Given the description of an element on the screen output the (x, y) to click on. 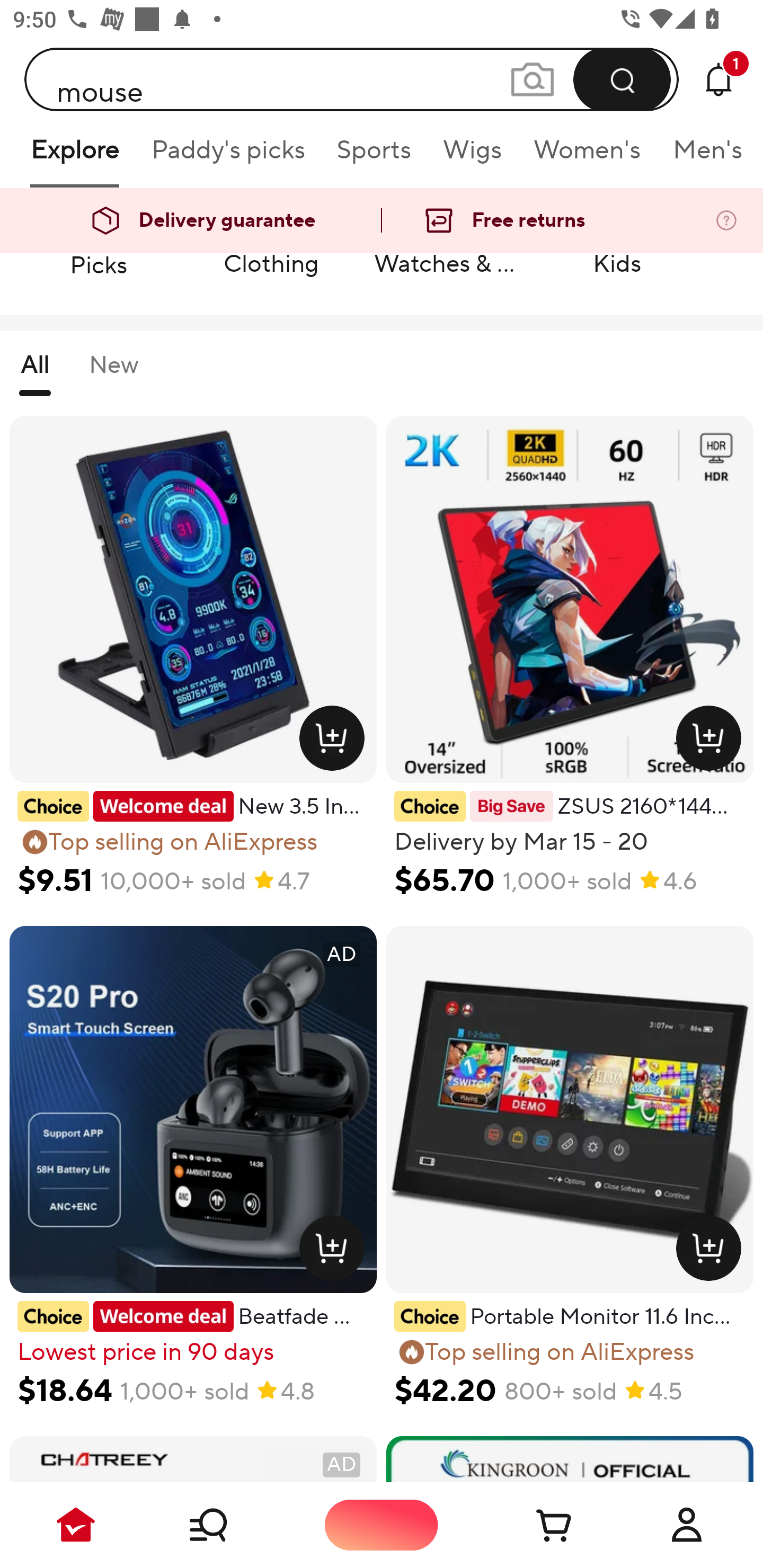
led lights (351, 79)
Paddy's picks (227, 155)
Sports (373, 155)
Wigs (472, 155)
Women's (586, 155)
Men's (701, 155)
285.3K+ viewed Electronics (739, 218)
New (113, 372)
Shop (228, 1524)
Cart (533, 1524)
Account (686, 1524)
